Given the description of an element on the screen output the (x, y) to click on. 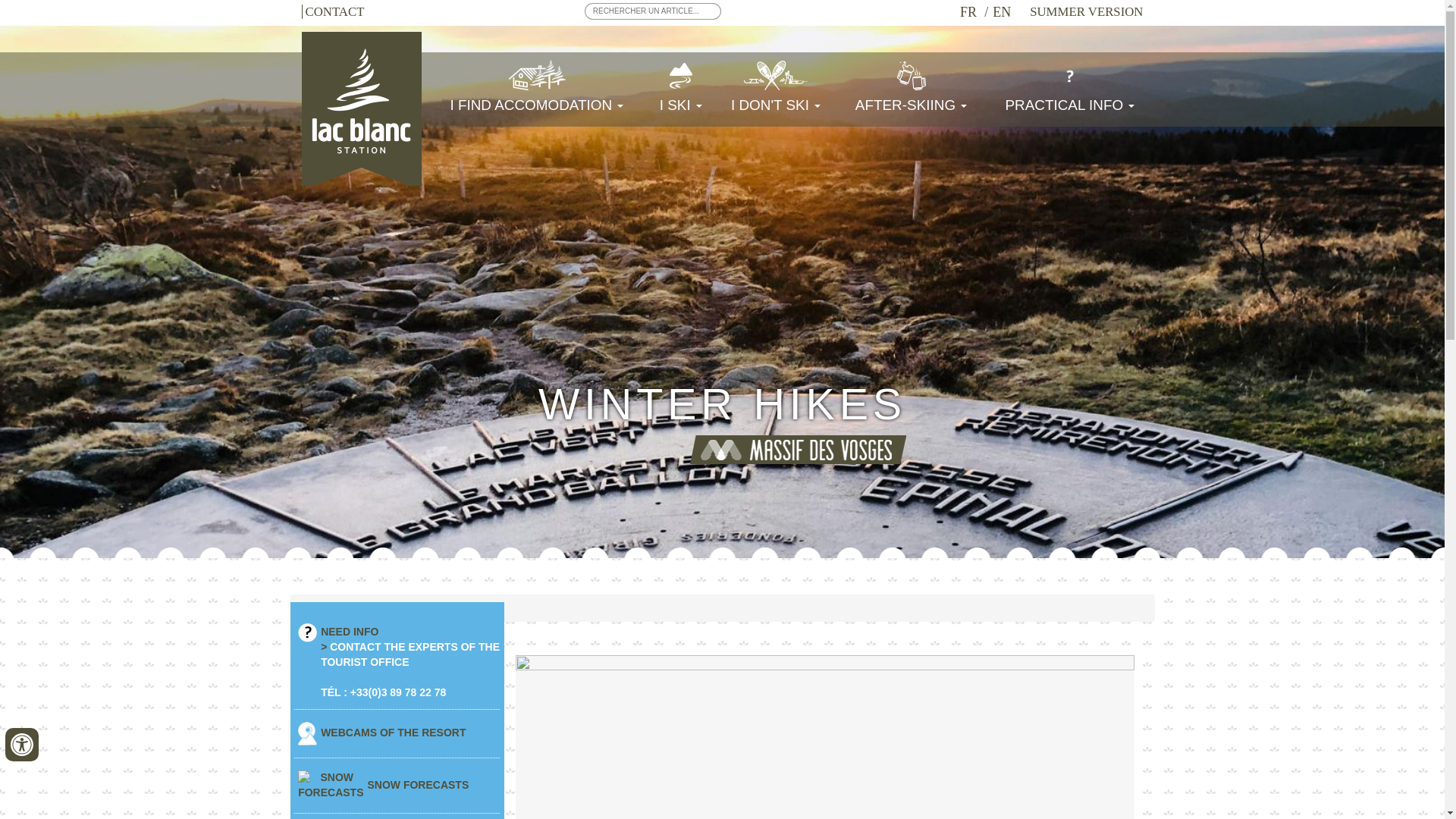
CONTACT (333, 11)
I SKI (680, 89)
Contact the experts of the tourist office (409, 654)
WINTER HIKES (721, 404)
I FIND ACCOMODATION (536, 89)
SUMMER VERSION (1085, 11)
Contact the experts of the tourist office (307, 632)
Snow Forecasts (330, 785)
Massif des Vosges (796, 449)
